Given the description of an element on the screen output the (x, y) to click on. 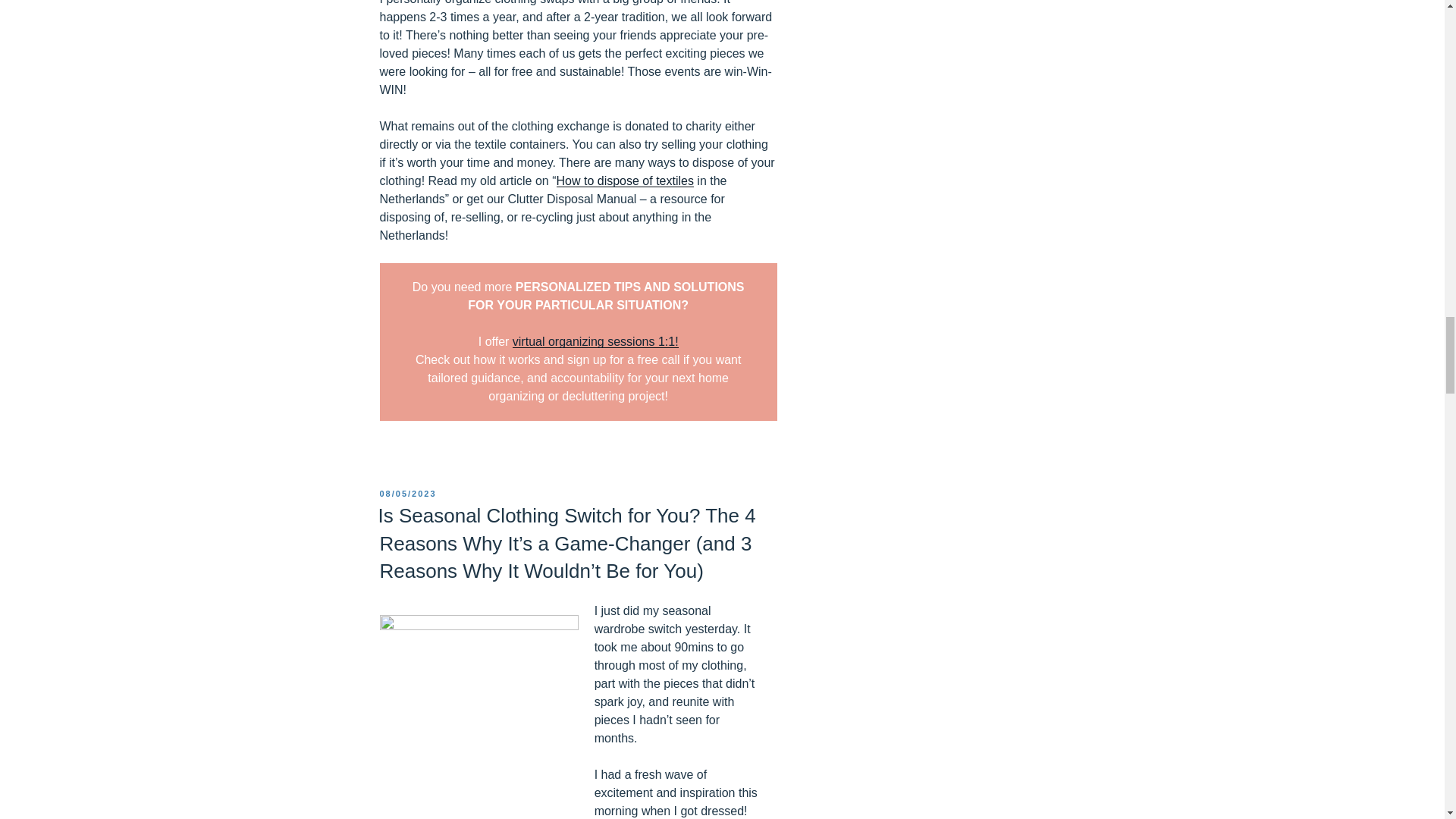
How to dispose of textiles (625, 180)
virtual organizing sessions 1:1! (595, 341)
